Given the description of an element on the screen output the (x, y) to click on. 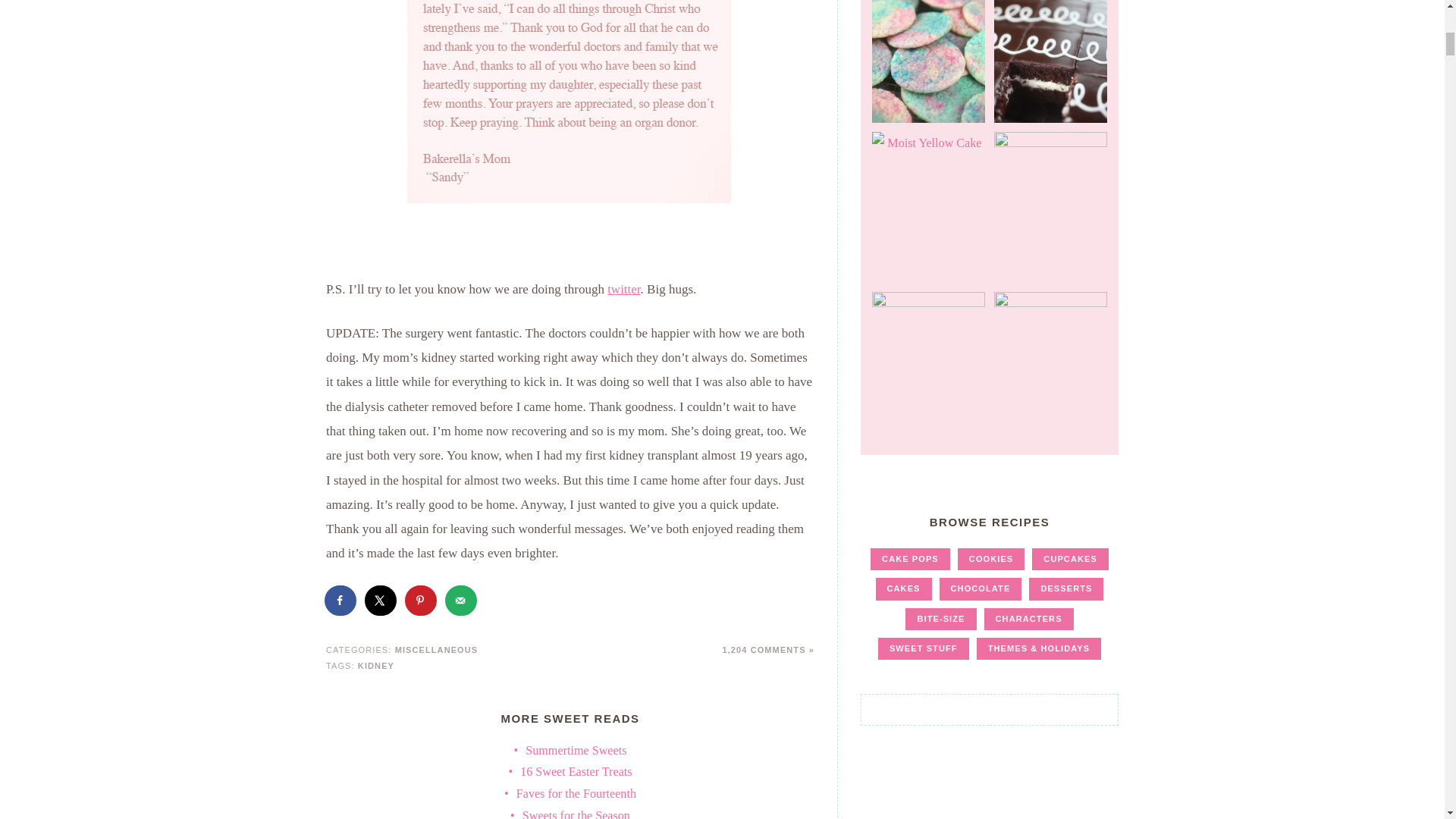
twitter (623, 288)
Save to Pinterest (421, 600)
Send over email (461, 600)
Untitled-1 (570, 129)
Share on Facebook (341, 600)
Share on X (381, 600)
